Given the description of an element on the screen output the (x, y) to click on. 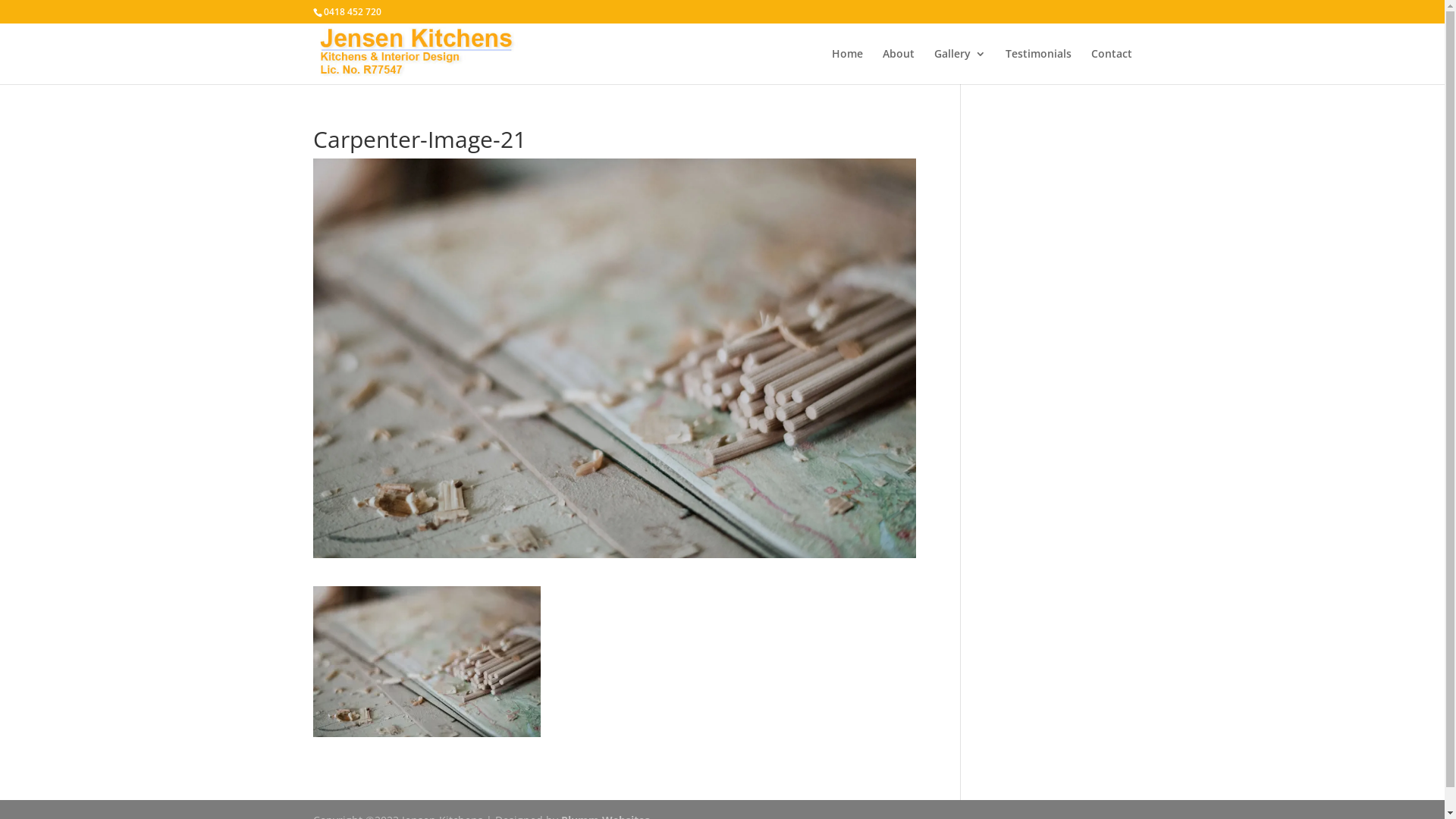
Testimonials Element type: text (1038, 66)
Contact Element type: text (1110, 66)
Home Element type: text (846, 66)
Gallery Element type: text (959, 66)
About Element type: text (898, 66)
